Given the description of an element on the screen output the (x, y) to click on. 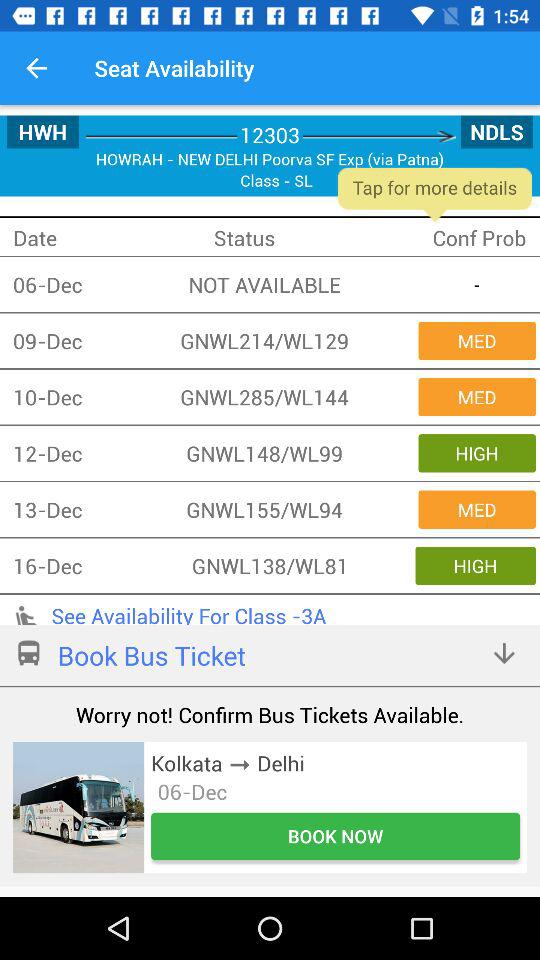
click the icon below 06-dec item (335, 836)
